Given the description of an element on the screen output the (x, y) to click on. 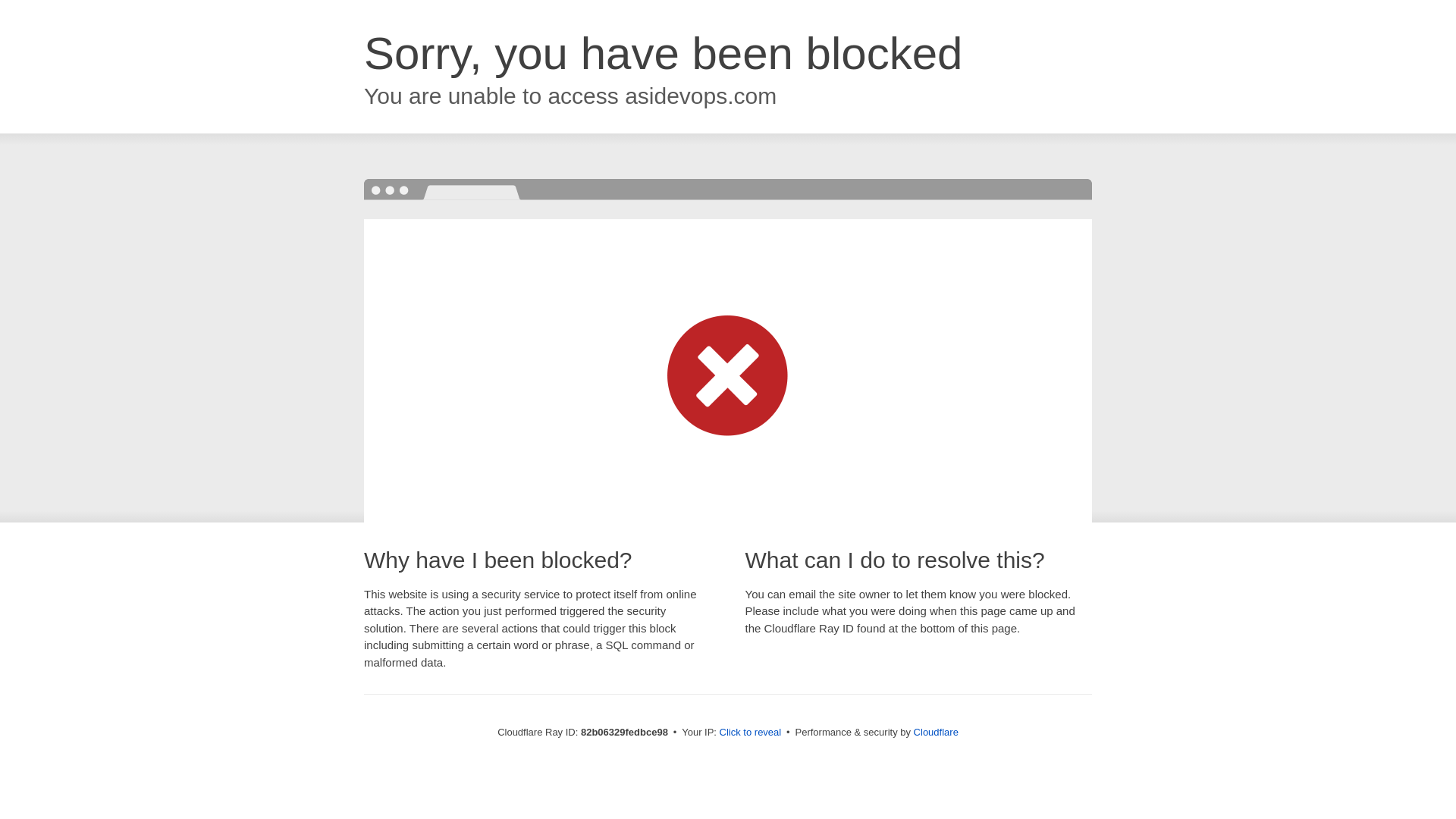
Click to reveal Element type: text (750, 732)
Cloudflare Element type: text (935, 731)
